Given the description of an element on the screen output the (x, y) to click on. 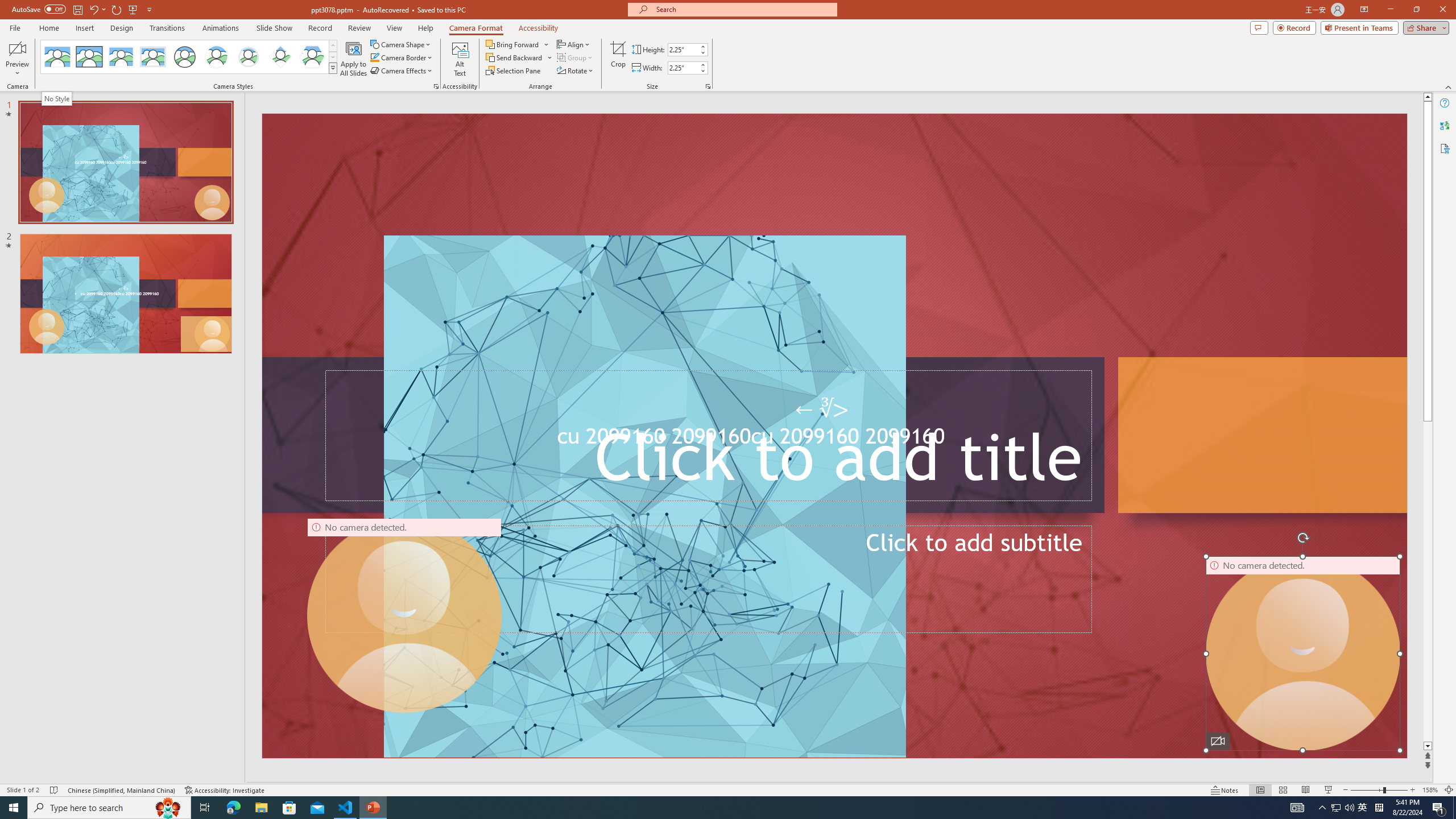
Title TextBox (708, 435)
Center Shadow Rectangle (120, 56)
Send Backward (514, 56)
Camera Border (401, 56)
Rotate (575, 69)
Apply to All Slides (353, 58)
